Given the description of an element on the screen output the (x, y) to click on. 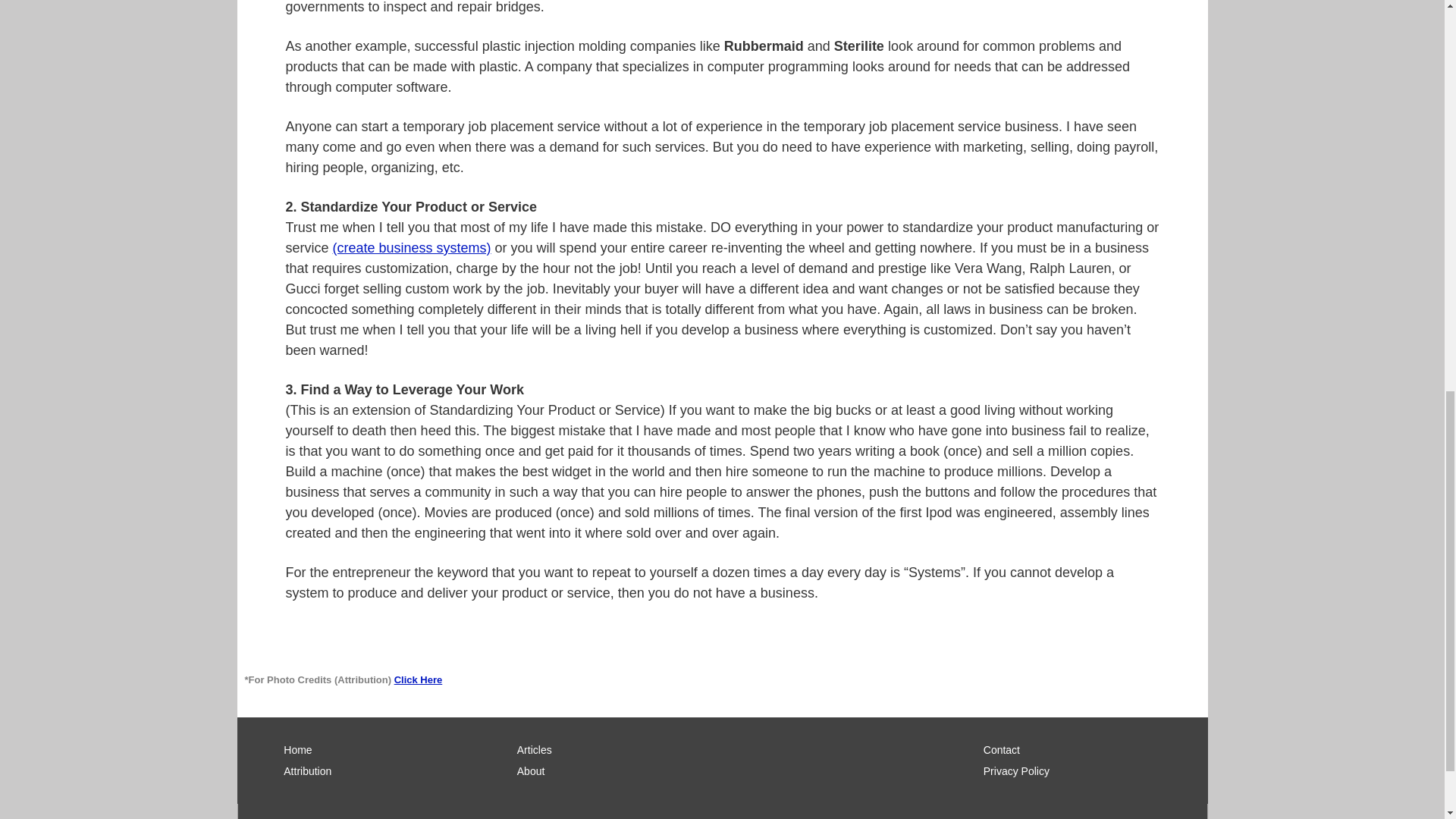
Attribution (386, 771)
Privacy Policy (1086, 771)
Contact (1086, 749)
Home (386, 749)
Click Here (418, 679)
Create Business Systems (412, 247)
About (619, 771)
Articles (619, 749)
